Given the description of an element on the screen output the (x, y) to click on. 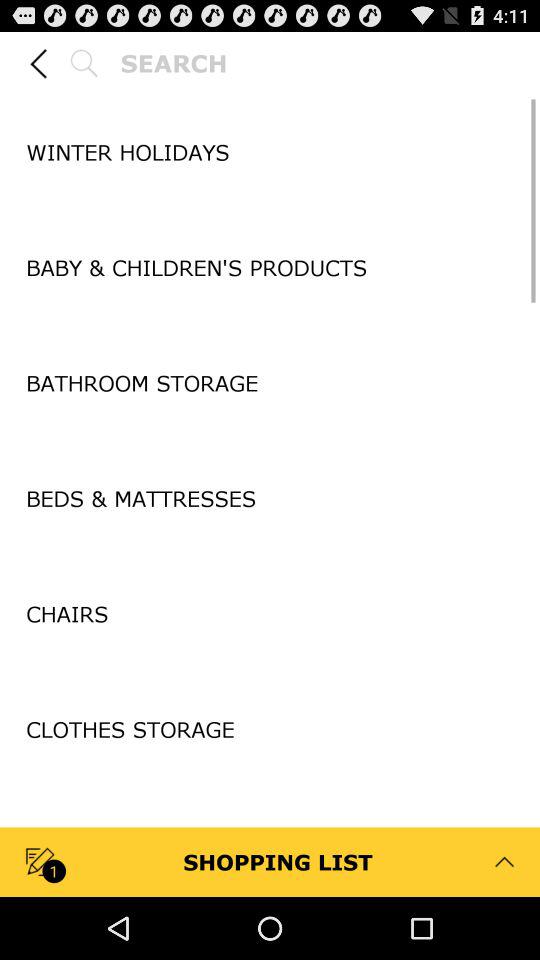
swipe until winter holidays item (270, 152)
